Given the description of an element on the screen output the (x, y) to click on. 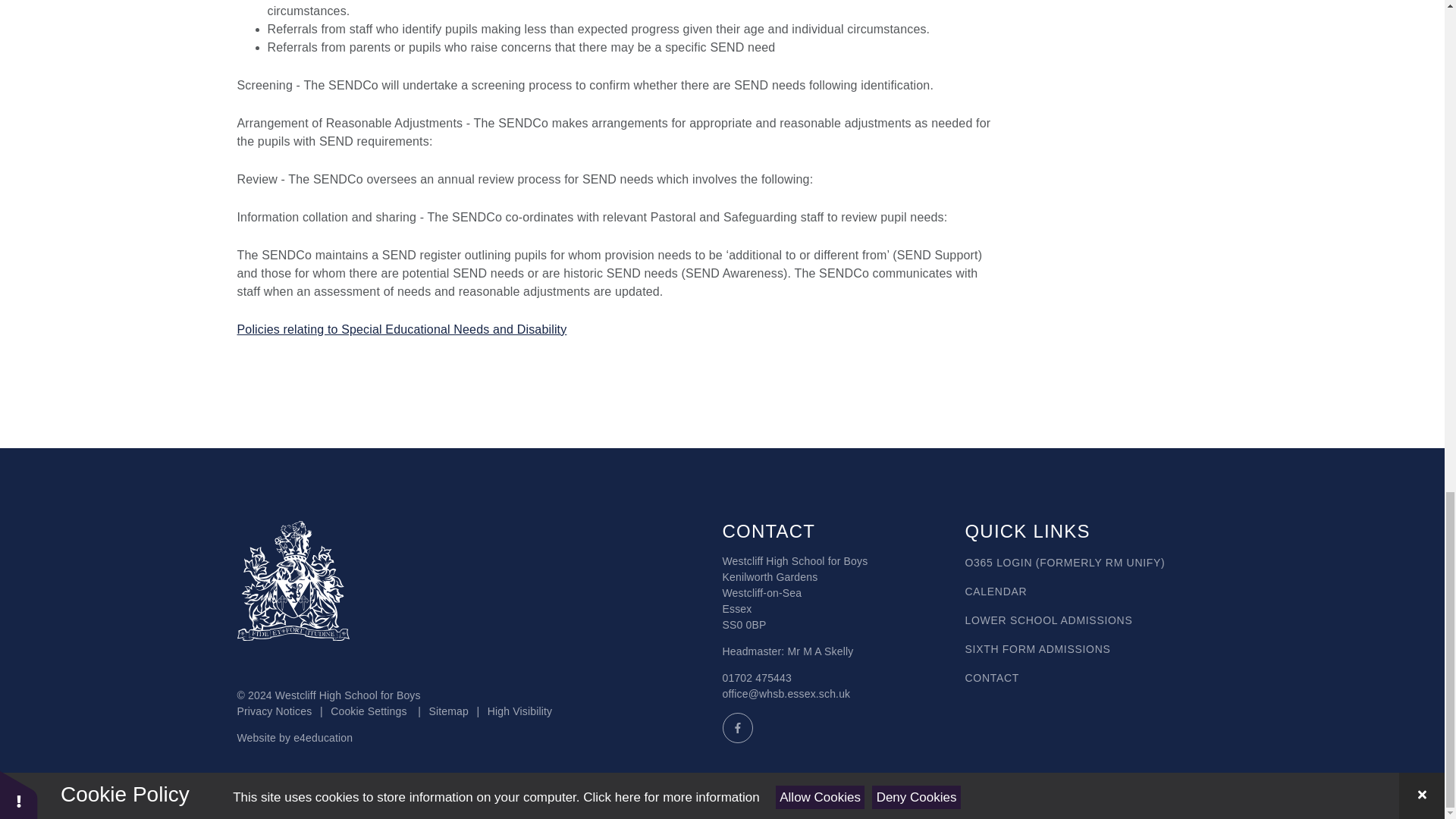
Cookie Settings (368, 711)
